Given the description of an element on the screen output the (x, y) to click on. 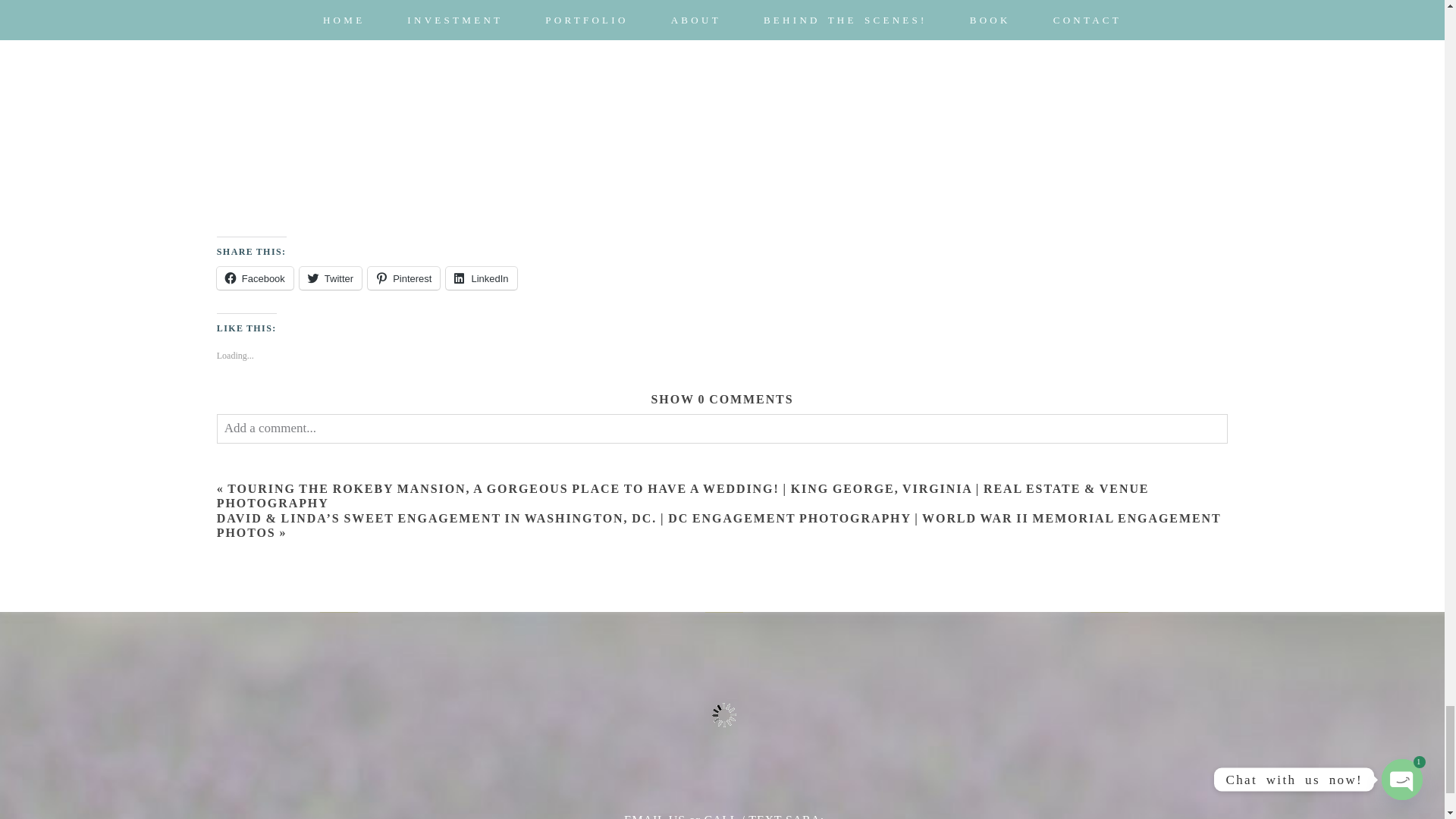
Click to share on Twitter (330, 277)
Click to share on LinkedIn (480, 277)
Click to share on Facebook (255, 277)
Click to share on Pinterest (403, 277)
